Given the description of an element on the screen output the (x, y) to click on. 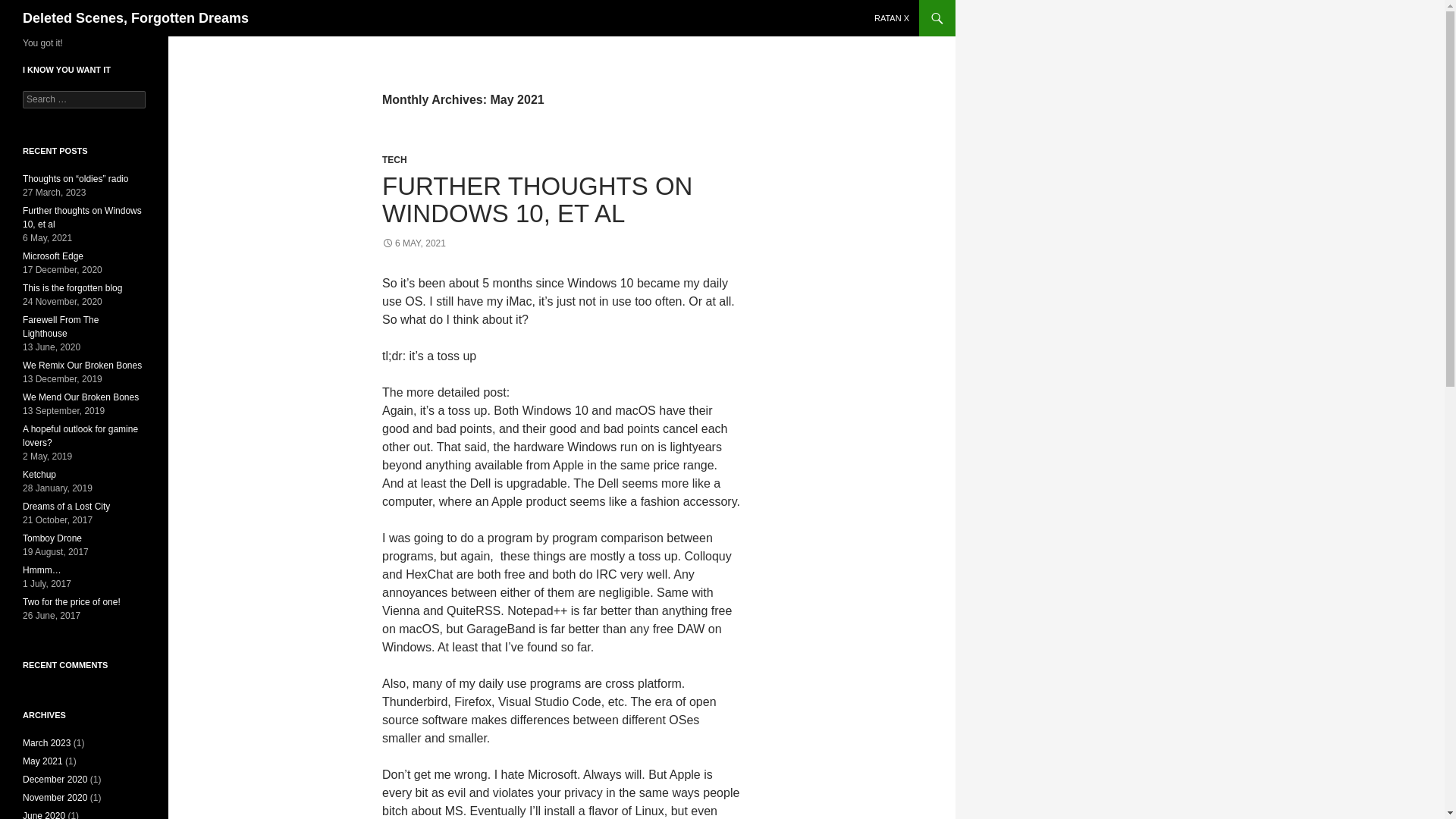
RATAN X (891, 18)
Farewell From The Lighthouse (61, 326)
June 2020 (44, 814)
FURTHER THOUGHTS ON WINDOWS 10, ET AL (537, 199)
Further thoughts on Windows 10, et al (82, 217)
This is the forgotten blog (72, 287)
November 2020 (55, 797)
Deleted Scenes, Forgotten Dreams (135, 18)
6 MAY, 2021 (413, 243)
Tomboy Drone (52, 538)
